Given the description of an element on the screen output the (x, y) to click on. 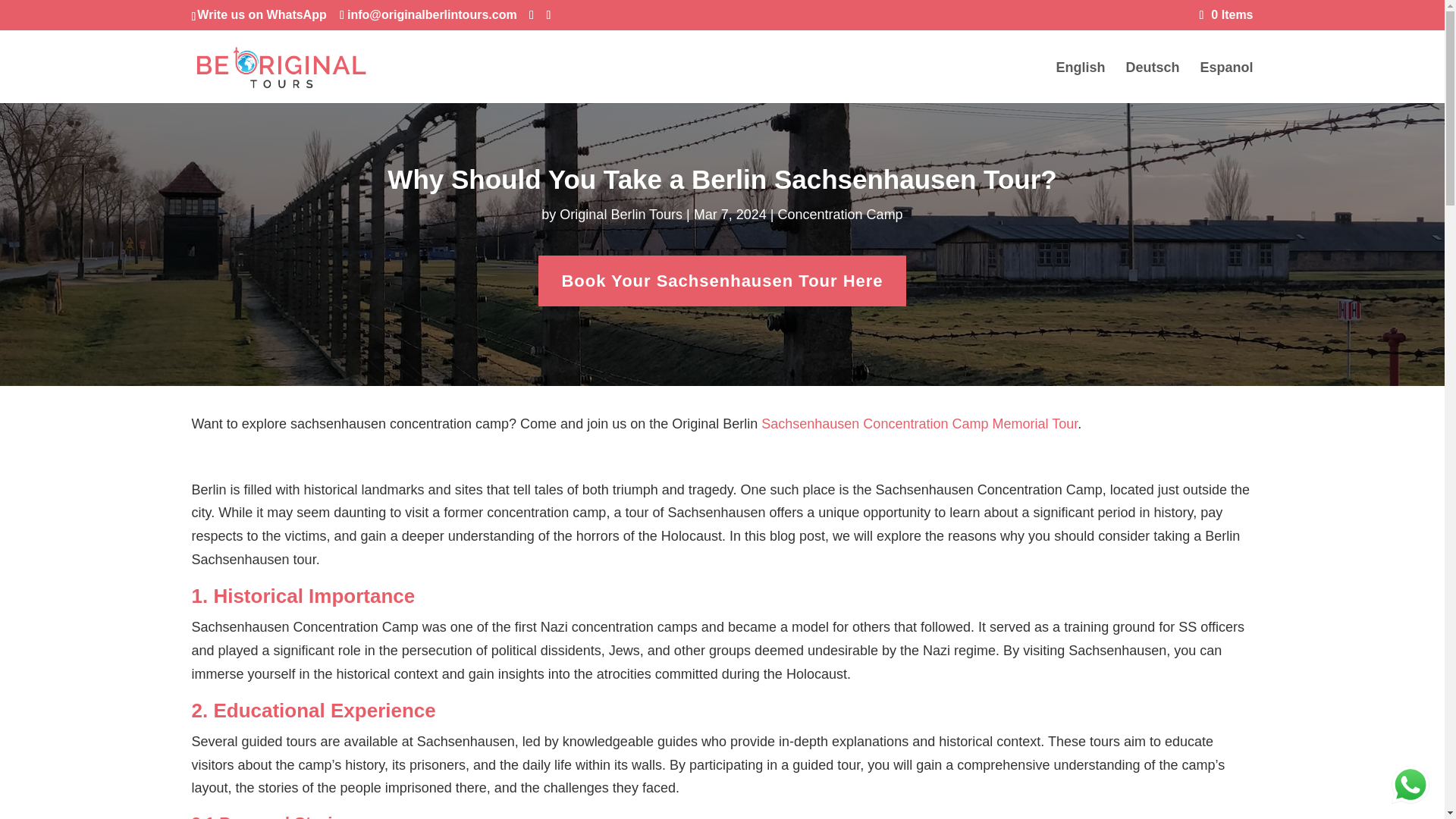
Deutsch (1152, 82)
WhatsApp us (1410, 784)
English (1080, 82)
Posts by Original Berlin Tours (620, 214)
Book Your Sachsenhausen Tour Here (721, 280)
Sachsenhausen Concentration Camp Memorial Tour (919, 423)
0 Items (1226, 14)
Concentration Camp (839, 214)
Original Berlin Tours (620, 214)
Espanol (1225, 82)
